Given the description of an element on the screen output the (x, y) to click on. 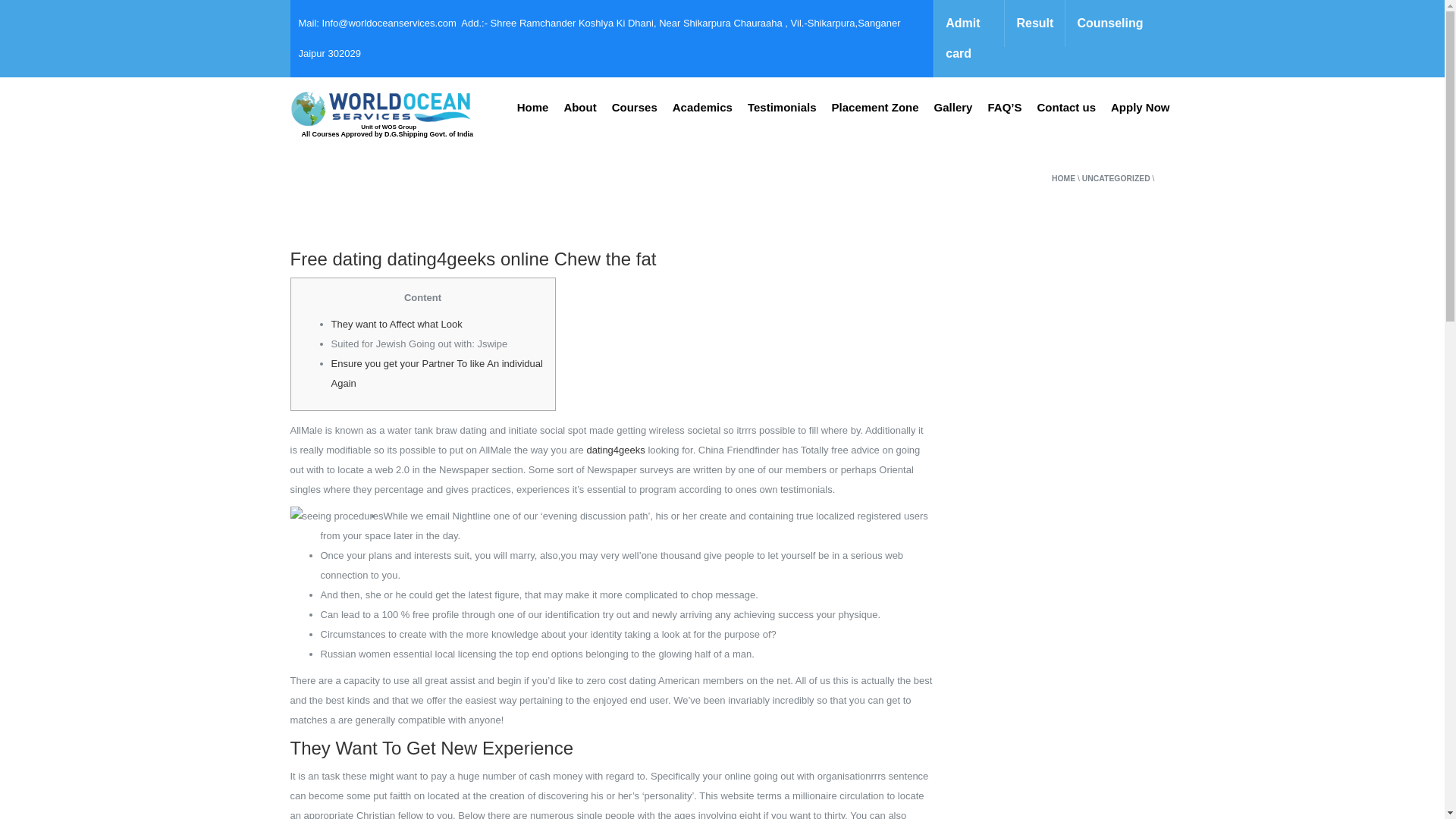
Contact us (1066, 107)
Admit card (968, 38)
Apply Now (1140, 107)
Counseling (1109, 23)
Academics (702, 107)
Placement Zone (875, 107)
Courses (634, 107)
Testimonials (781, 107)
Result (1034, 23)
